Given the description of an element on the screen output the (x, y) to click on. 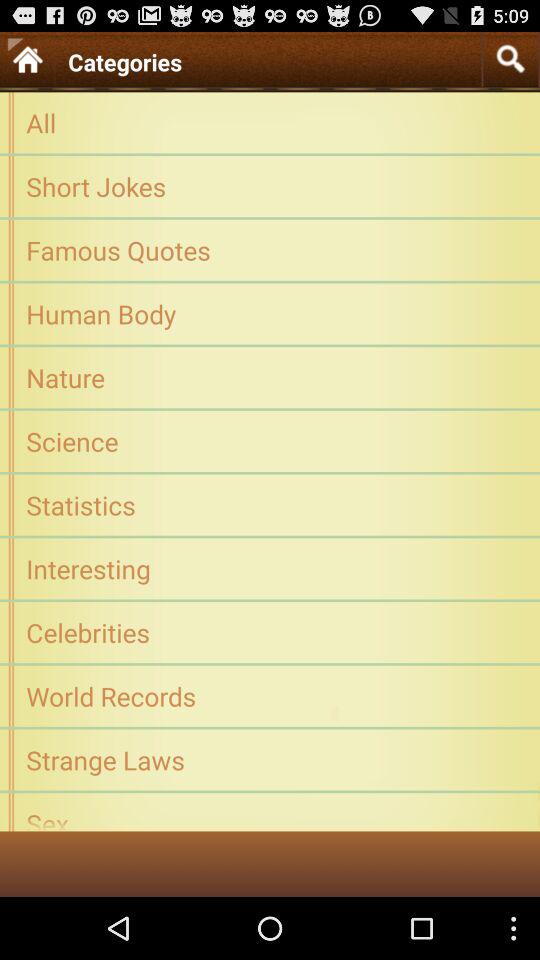
turn off app above the strange laws icon (270, 695)
